Given the description of an element on the screen output the (x, y) to click on. 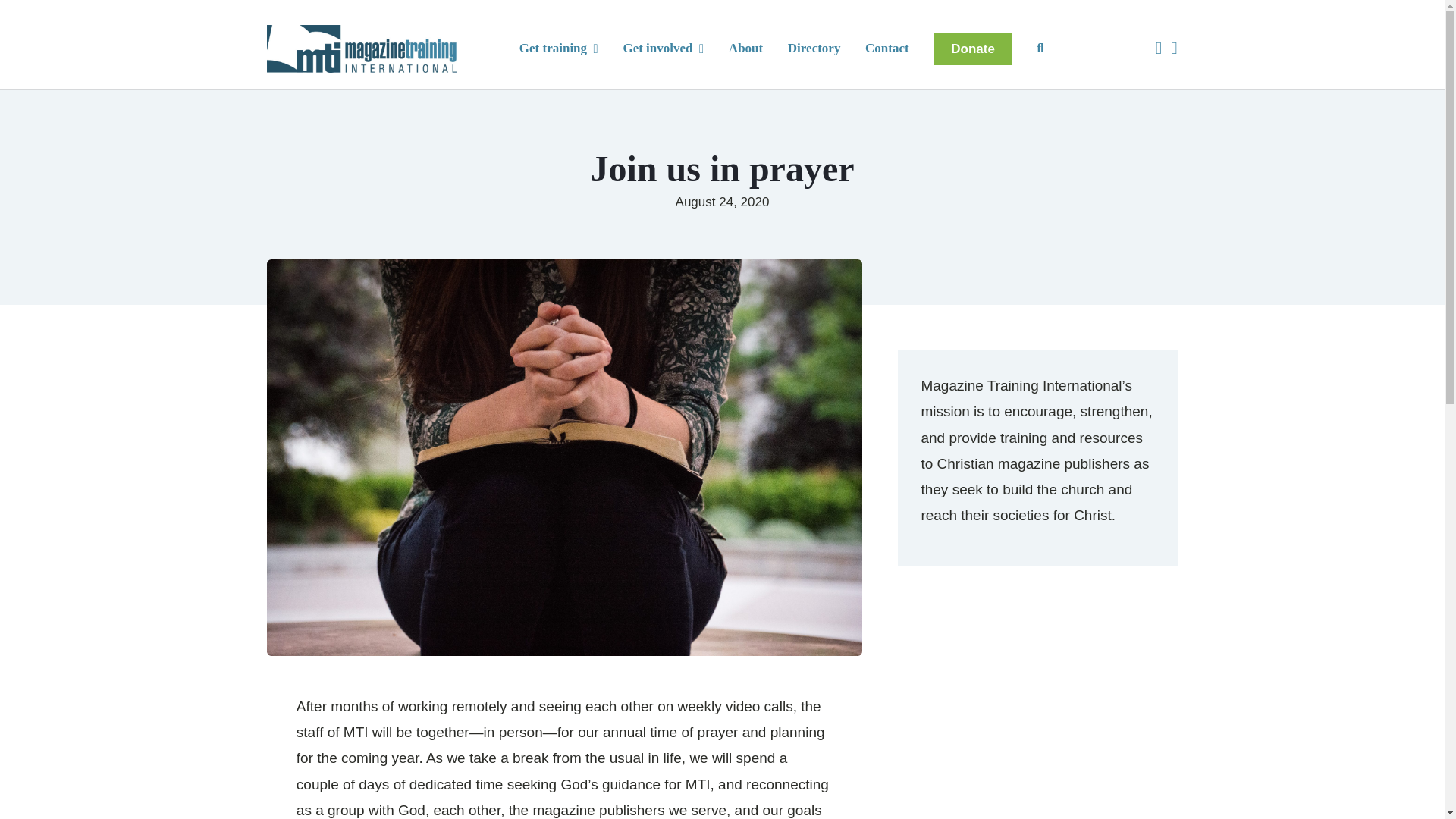
Get training (558, 48)
Donate (972, 47)
Directory (814, 48)
About (745, 48)
Contact (886, 48)
Get involved (663, 48)
